Given the description of an element on the screen output the (x, y) to click on. 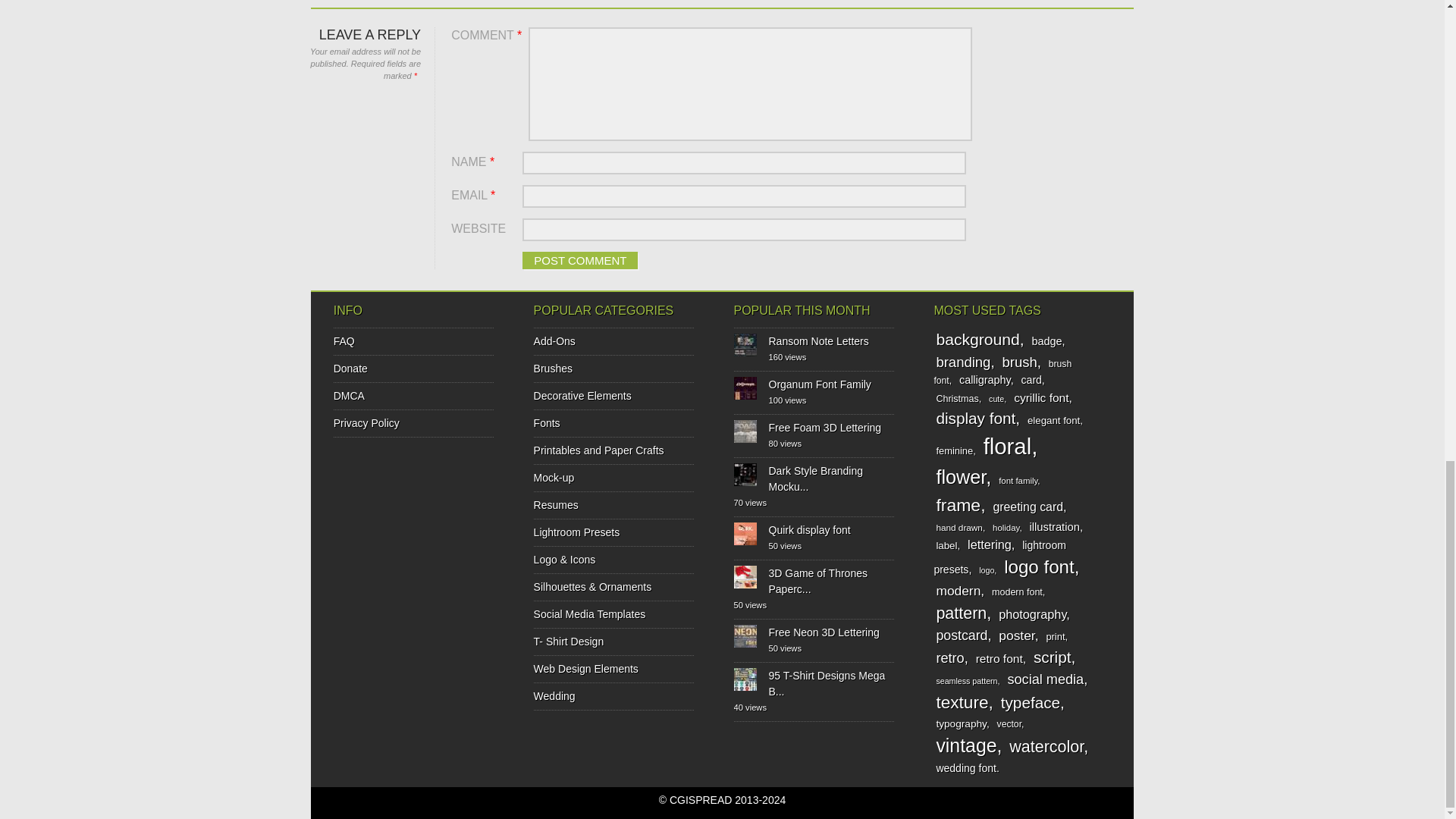
Post Comment (579, 260)
